Given the description of an element on the screen output the (x, y) to click on. 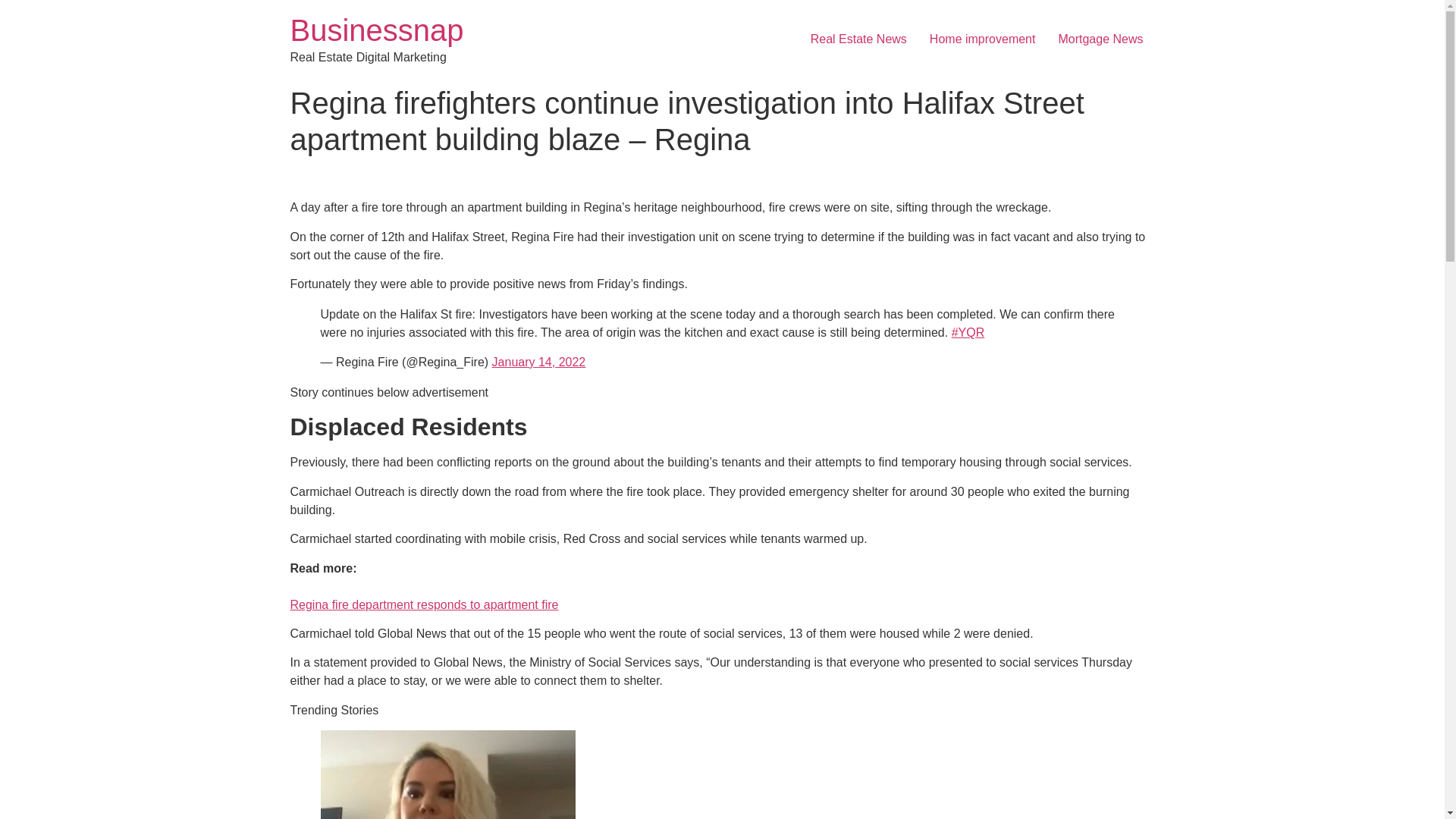
Regina fire department responds to apartment fire (423, 613)
Real Estate News (858, 39)
Regina fire department responds to apartment fire (423, 613)
January 14, 2022 (539, 361)
Home (376, 29)
Mortgage News (1100, 39)
Home improvement (982, 39)
Businessnap (376, 29)
